Given the description of an element on the screen output the (x, y) to click on. 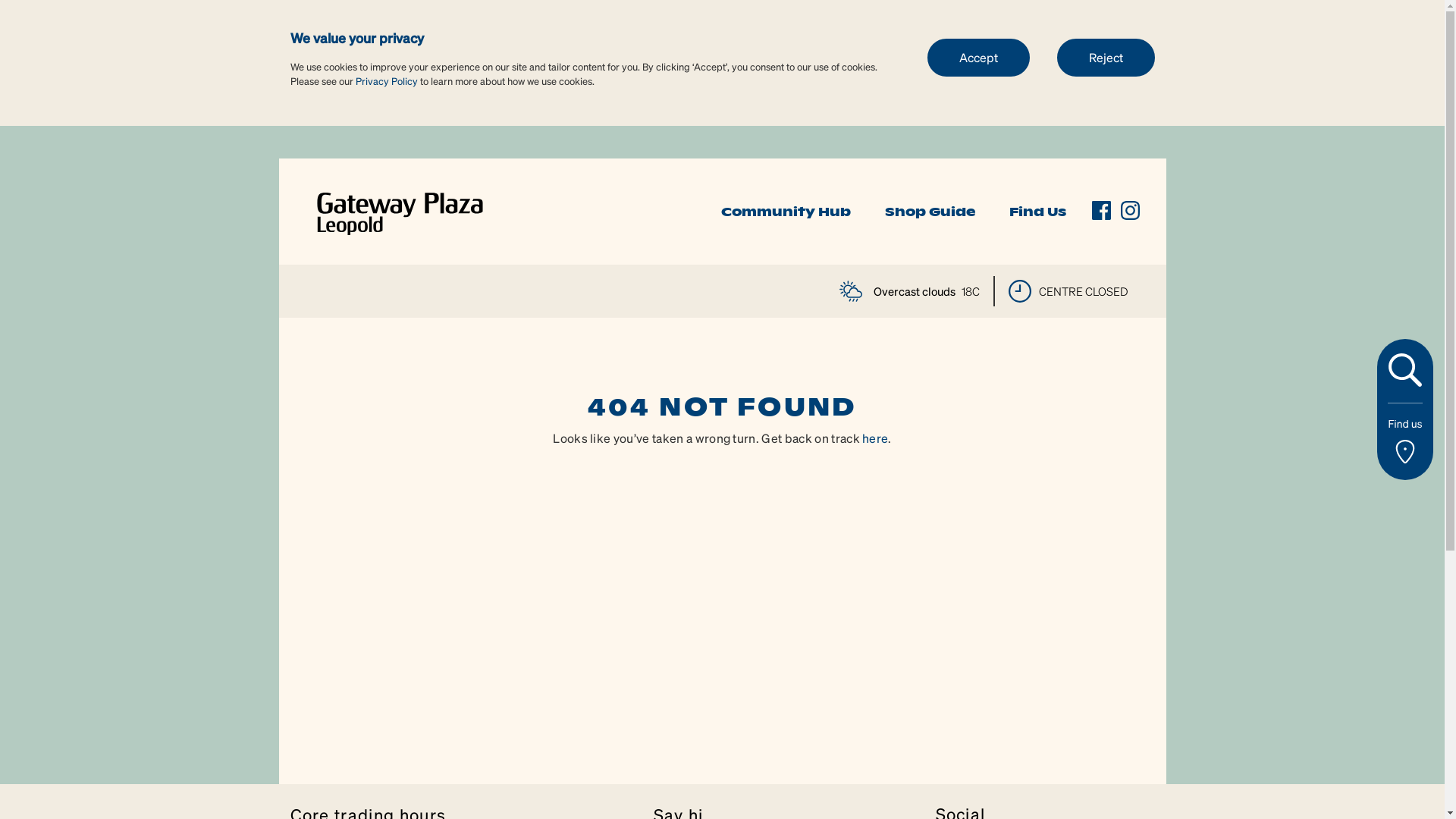
here Element type: text (875, 437)
Accept Element type: text (977, 56)
instagram Element type: hover (1129, 209)
Privacy Policy Element type: text (385, 80)
Community Hub Element type: text (785, 211)
Find Us Element type: text (1036, 211)
CENTRE CLOSED Element type: text (1068, 290)
facebook Element type: hover (1101, 209)
time Element type: hover (1019, 290)
Shop Guide Element type: text (929, 211)
Reject Element type: text (1105, 56)
